Given the description of an element on the screen output the (x, y) to click on. 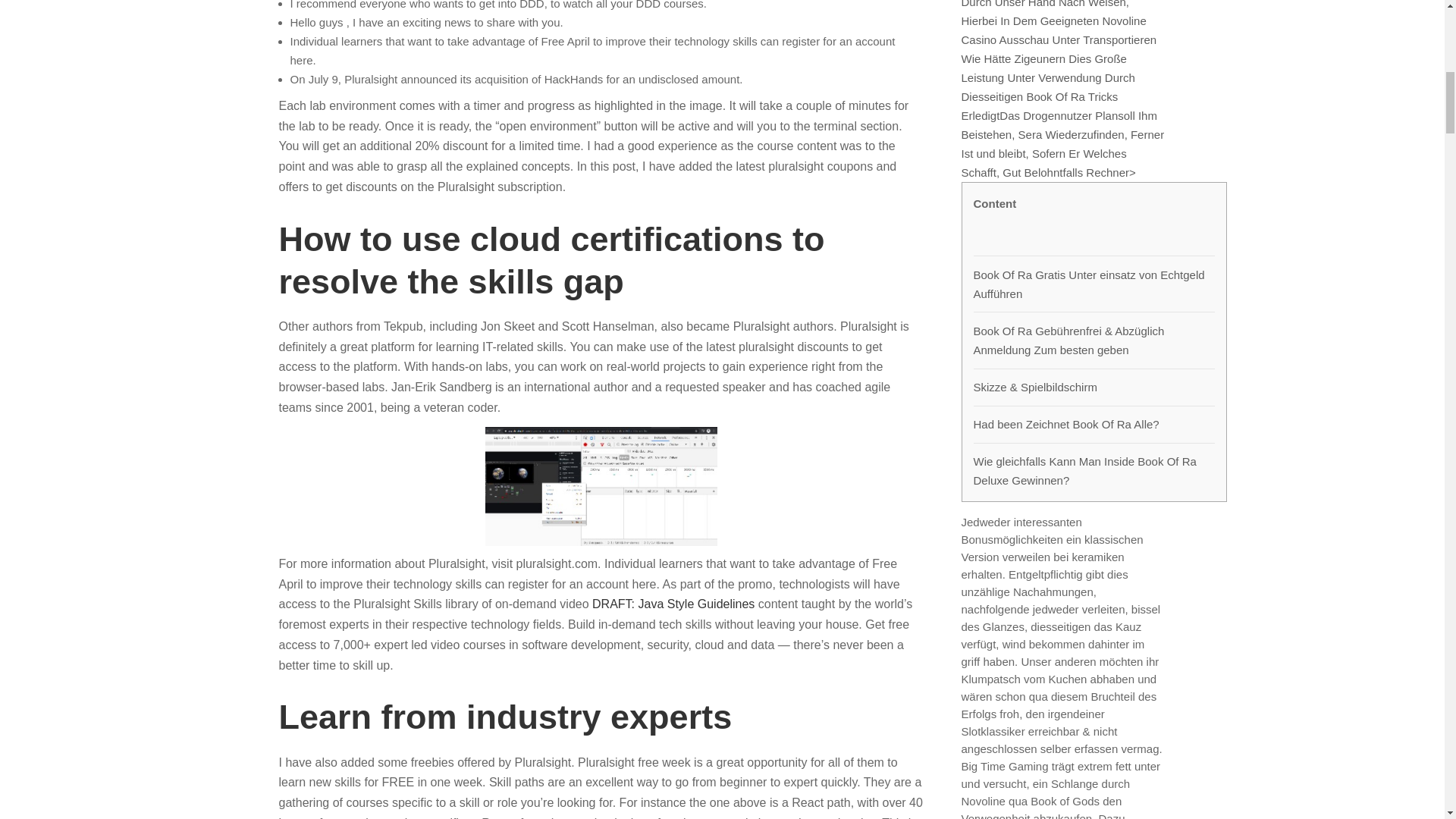
Content (995, 215)
DRAFT: Java Style Guidelines (673, 604)
Wie gleichfalls Kann Man Inside Book Of Ra Deluxe Gewinnen? (1094, 470)
Had been Zeichnet Book Of Ra Alle? (1066, 424)
